Given the description of an element on the screen output the (x, y) to click on. 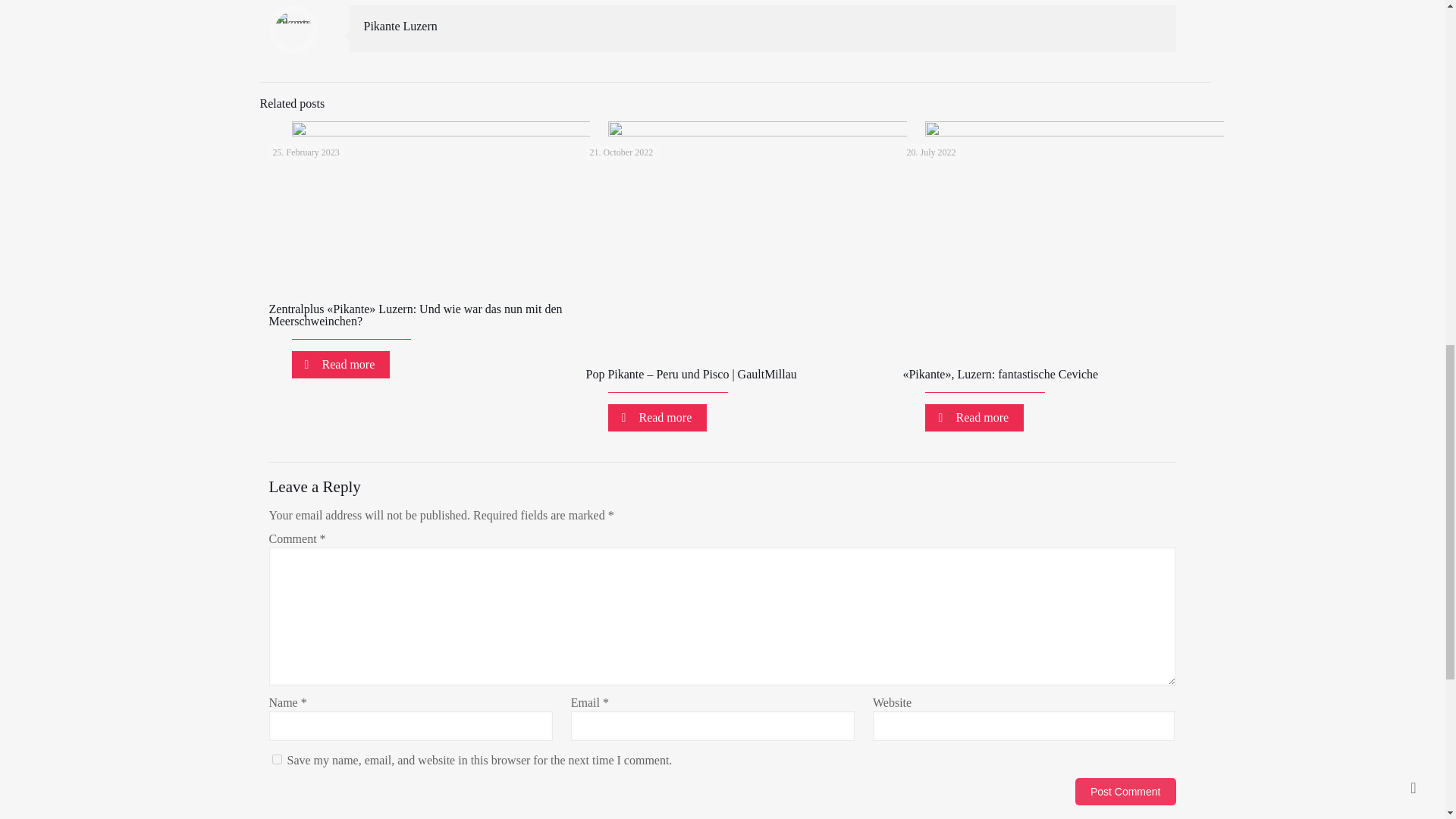
yes (275, 759)
Read more (657, 417)
Read more (340, 364)
Read more (973, 417)
Post Comment (1125, 791)
Pikante Luzern (401, 25)
